Given the description of an element on the screen output the (x, y) to click on. 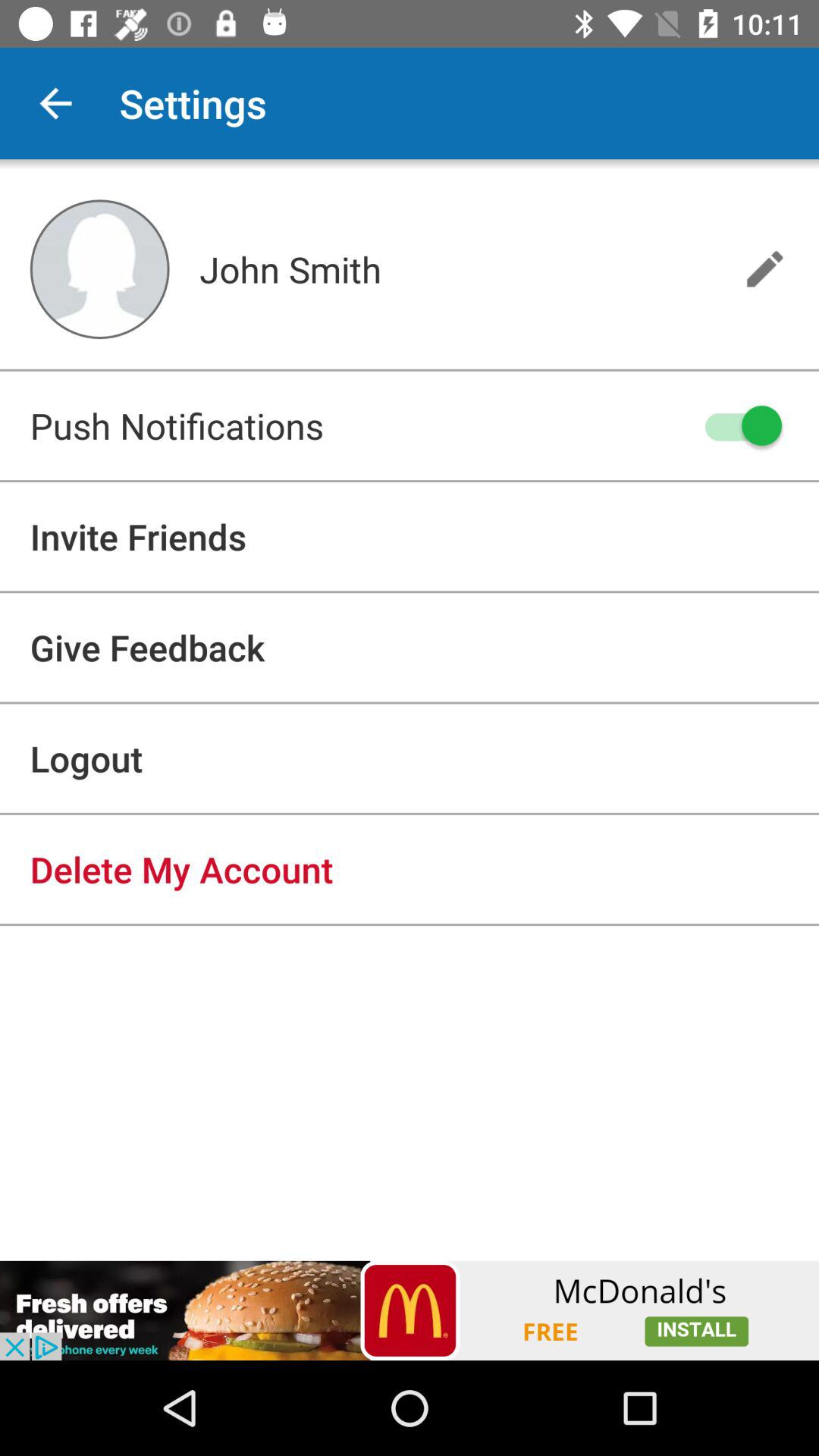
write (764, 268)
